Given the description of an element on the screen output the (x, y) to click on. 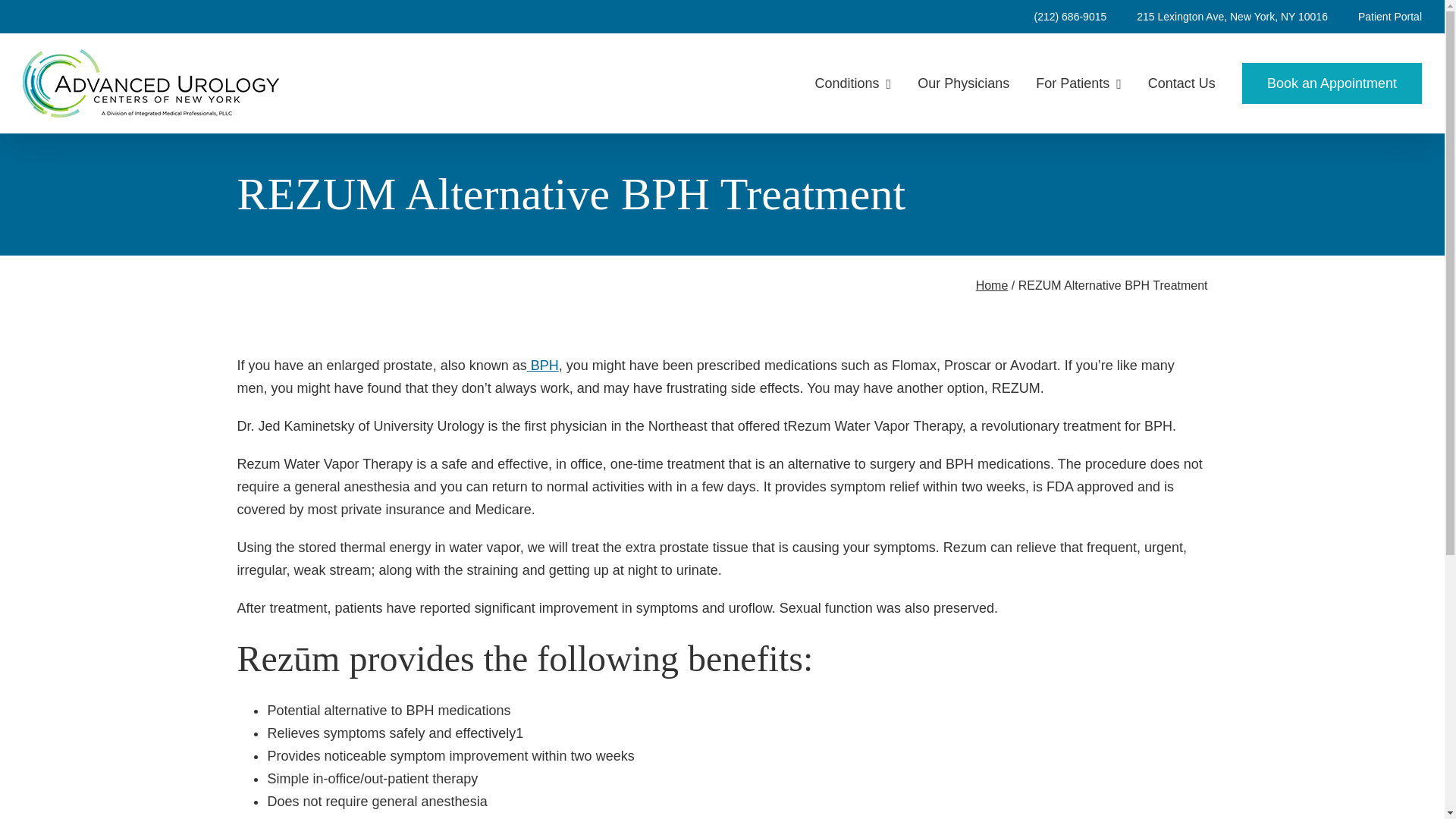
215 Lexington Ave, New York, NY 10016 (1216, 16)
Patient Portal (1374, 16)
Our Physicians (963, 83)
